Given the description of an element on the screen output the (x, y) to click on. 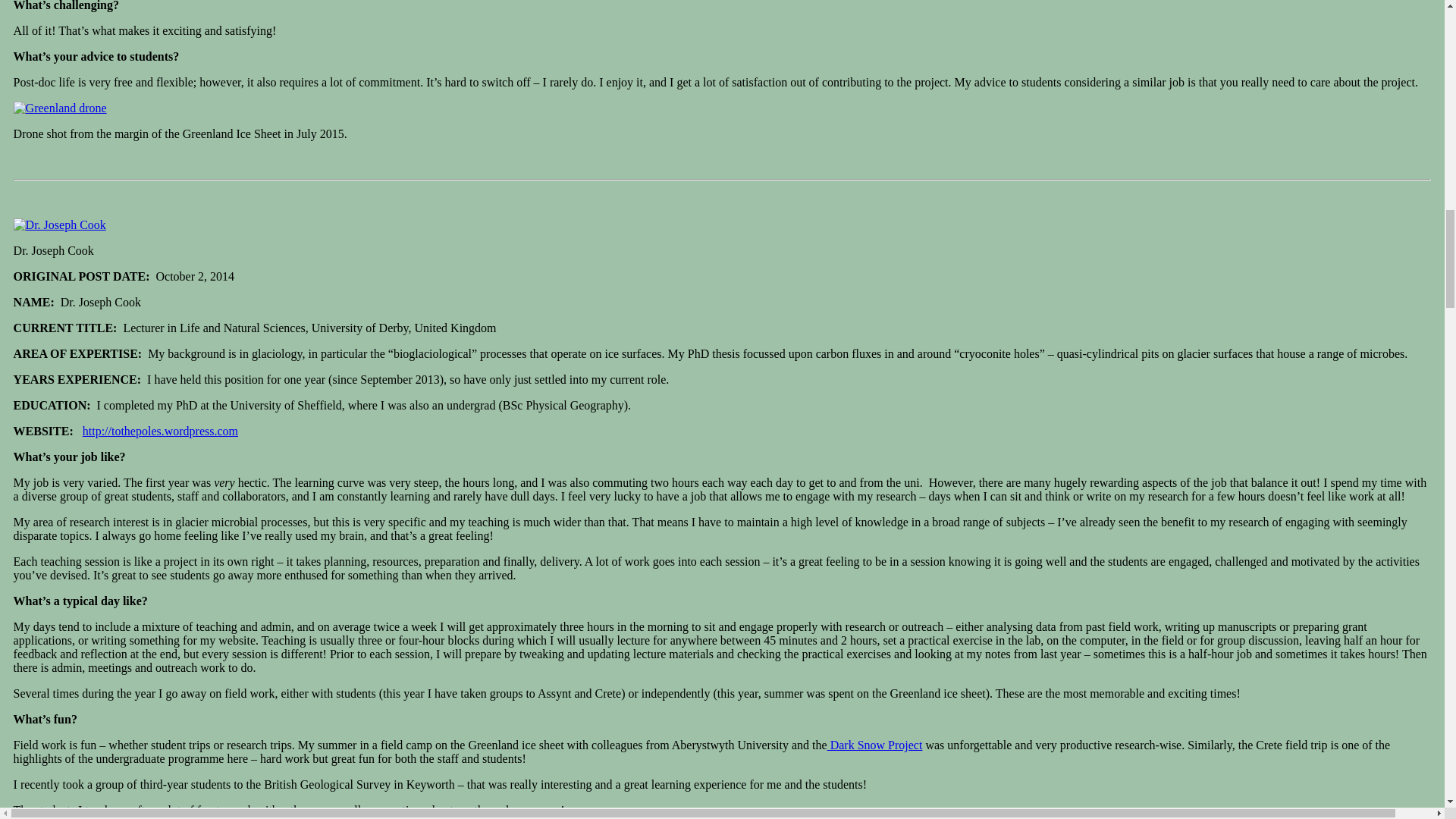
Dark Snow Project (875, 744)
